Given the description of an element on the screen output the (x, y) to click on. 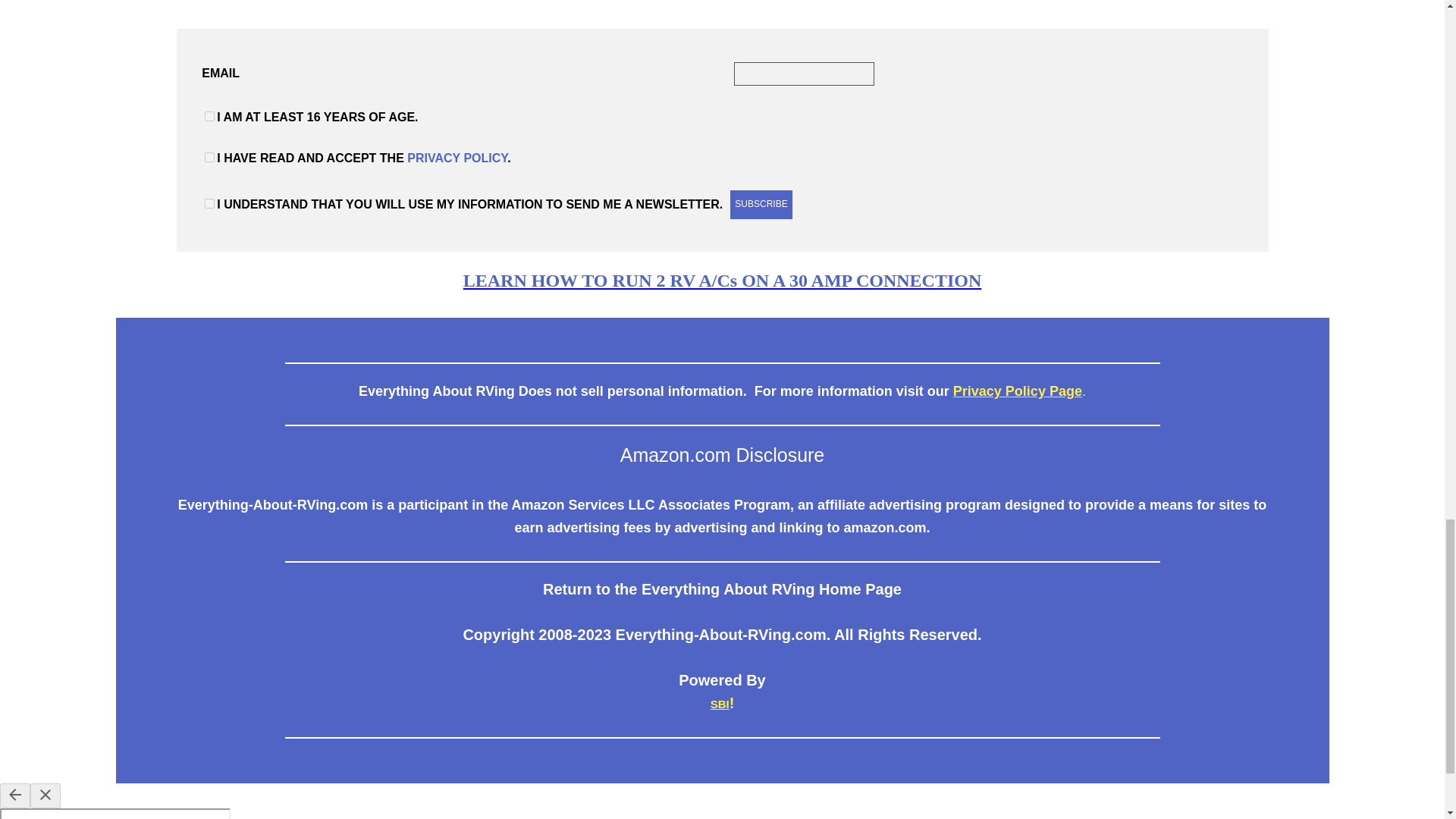
on (209, 116)
PRIVACY POLICY (456, 157)
on (209, 157)
on (209, 203)
